Given the description of an element on the screen output the (x, y) to click on. 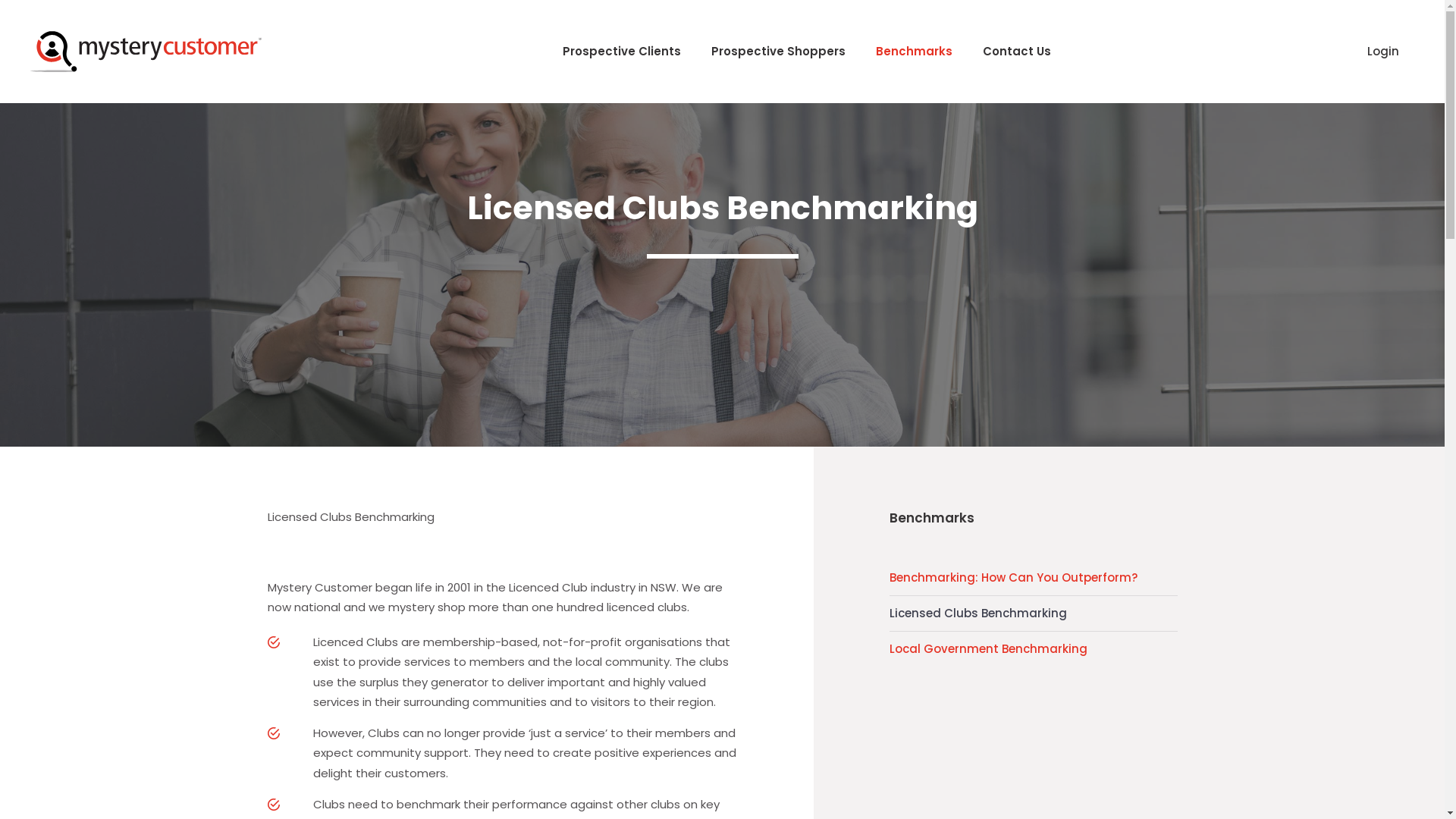
Prospective Shoppers Element type: text (778, 50)
Prospective Clients Element type: text (621, 50)
Login Element type: text (1383, 51)
Benchmarks Element type: text (913, 50)
Local Government Benchmarking Element type: text (1032, 648)
Benchmarking: How Can You Outperform? Element type: text (1032, 577)
Licensed Clubs Benchmarking Element type: text (1032, 613)
Contact Us Element type: text (1016, 50)
